Given the description of an element on the screen output the (x, y) to click on. 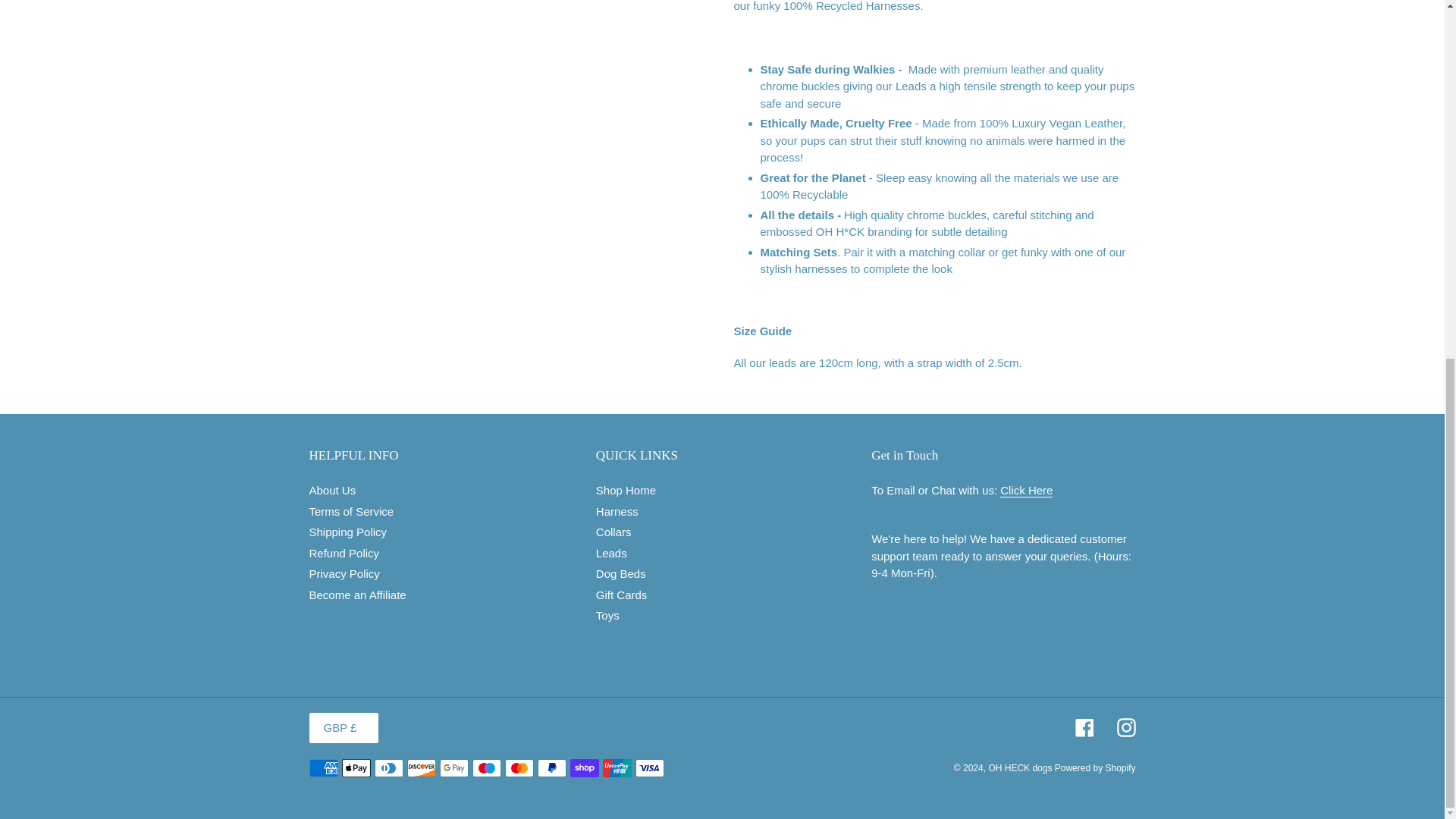
Contact Us (1026, 490)
About Us (332, 490)
